Given the description of an element on the screen output the (x, y) to click on. 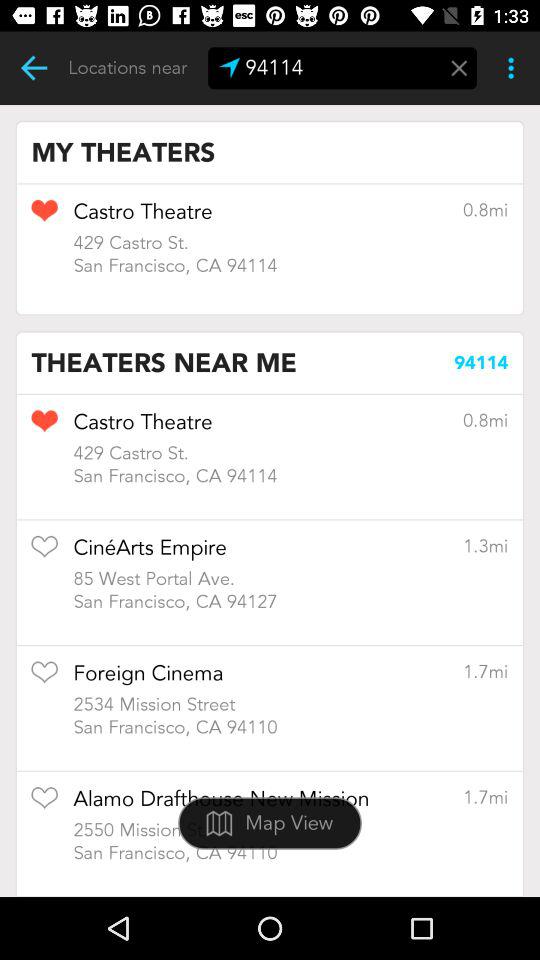
menu page (459, 68)
